Given the description of an element on the screen output the (x, y) to click on. 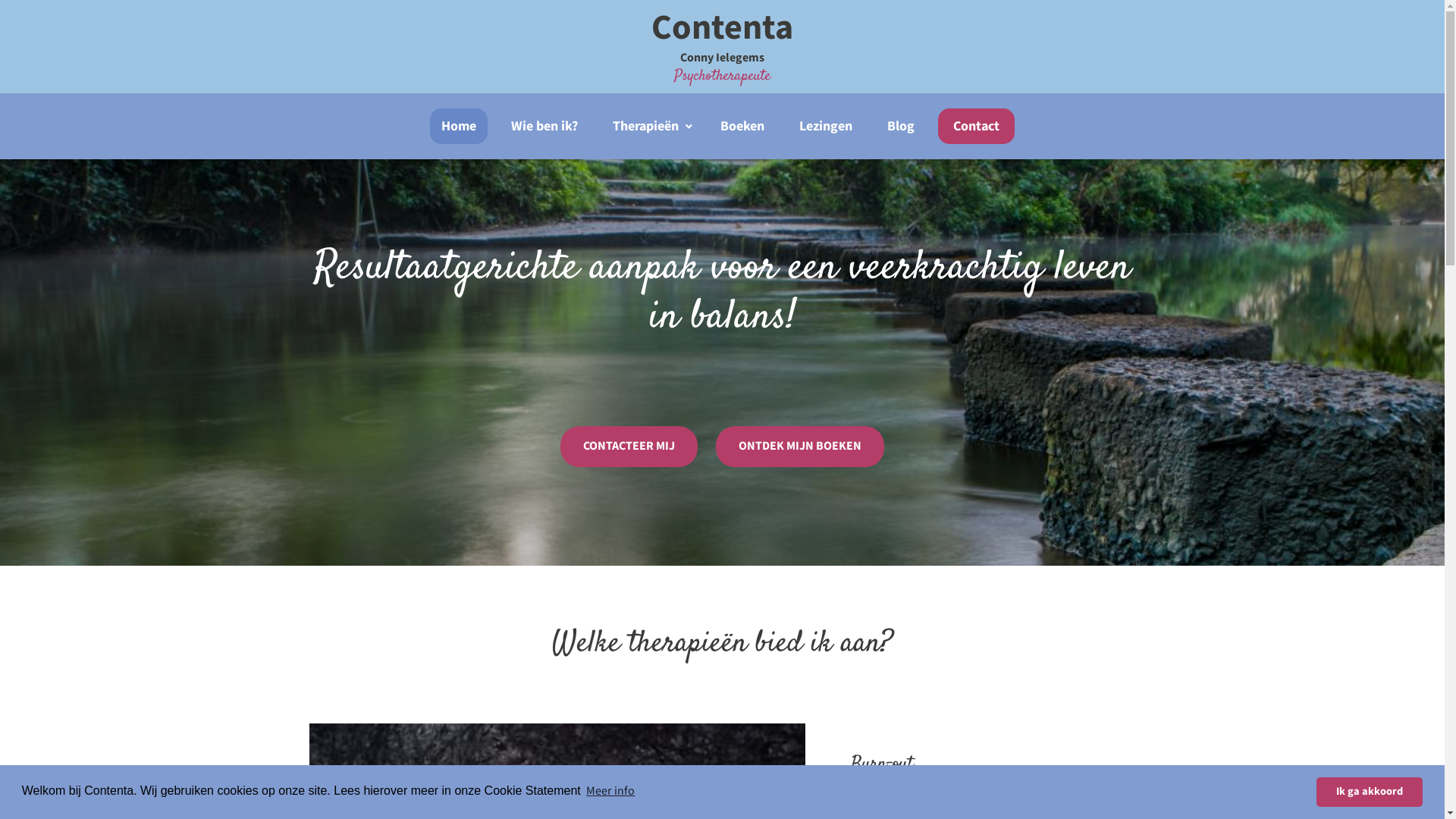
ONTDEK MIJN BOEKEN Element type: text (799, 446)
Ik ga akkoord Element type: text (1369, 791)
Wie ben ik? Element type: text (544, 126)
Meer info Element type: text (610, 791)
Contact Element type: text (976, 126)
Lezingen Element type: text (825, 126)
Home Element type: text (458, 126)
Boeken Element type: text (742, 126)
CONTACTEER MIJ Element type: text (628, 446)
Blog Element type: text (900, 126)
